Given the description of an element on the screen output the (x, y) to click on. 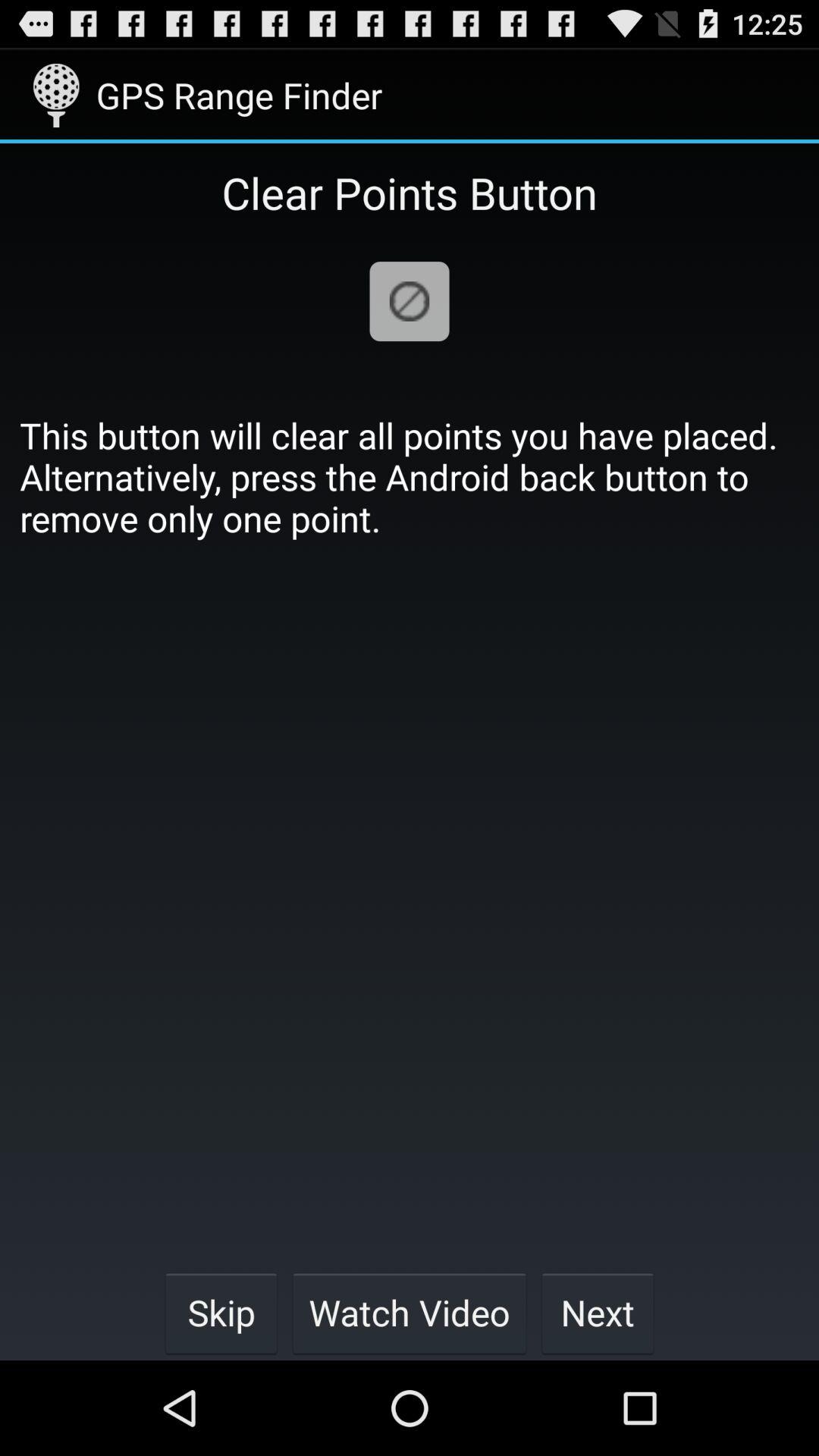
choose item next to skip item (409, 1312)
